Given the description of an element on the screen output the (x, y) to click on. 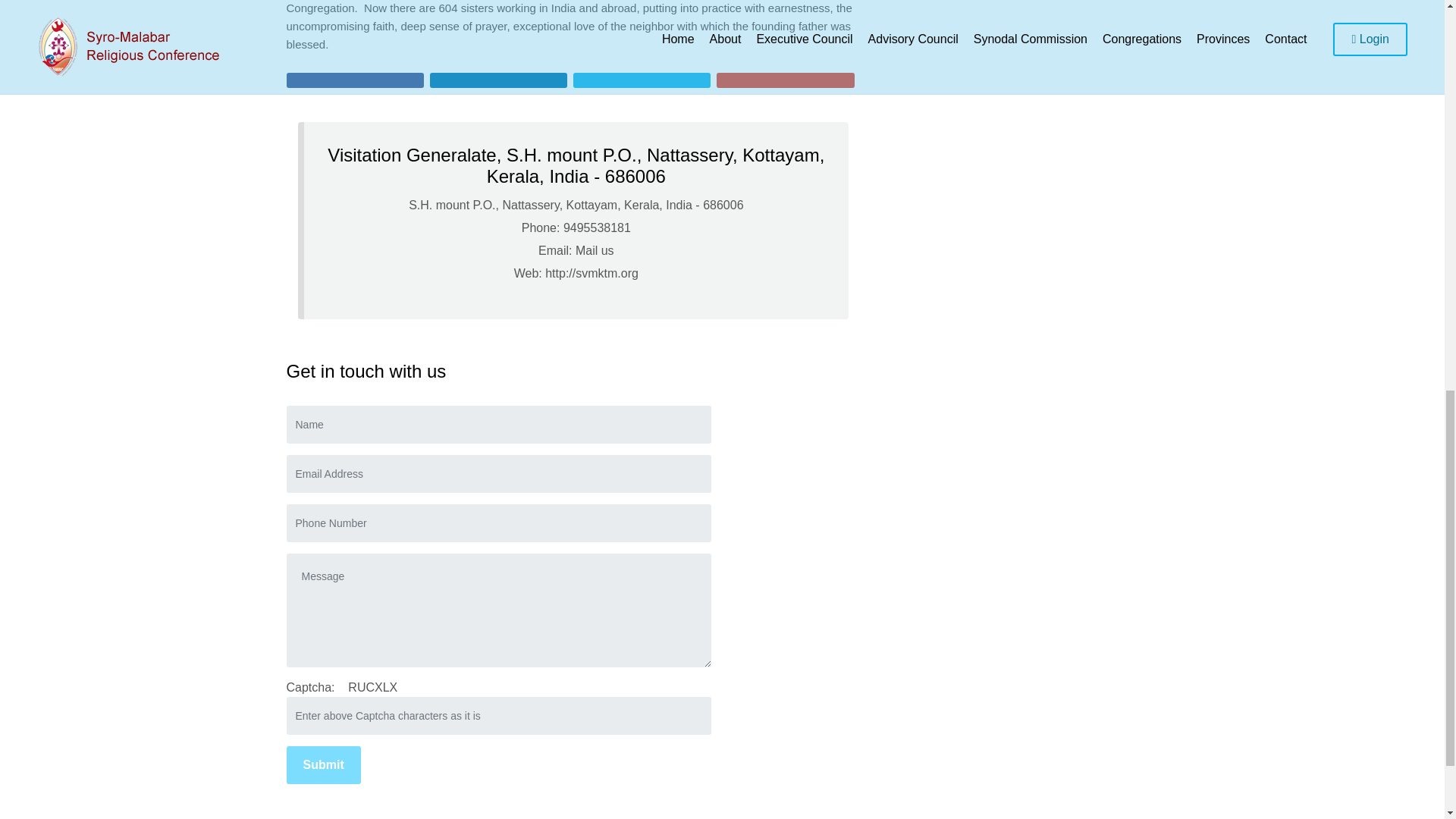
Submit (323, 764)
Mail us (594, 250)
Submit (323, 764)
